Given the description of an element on the screen output the (x, y) to click on. 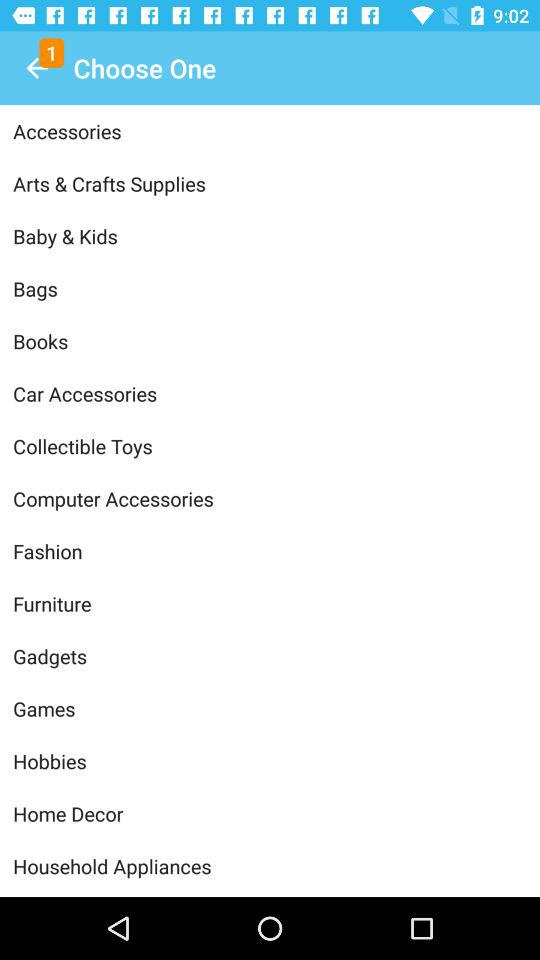
flip to the fashion (269, 551)
